Given the description of an element on the screen output the (x, y) to click on. 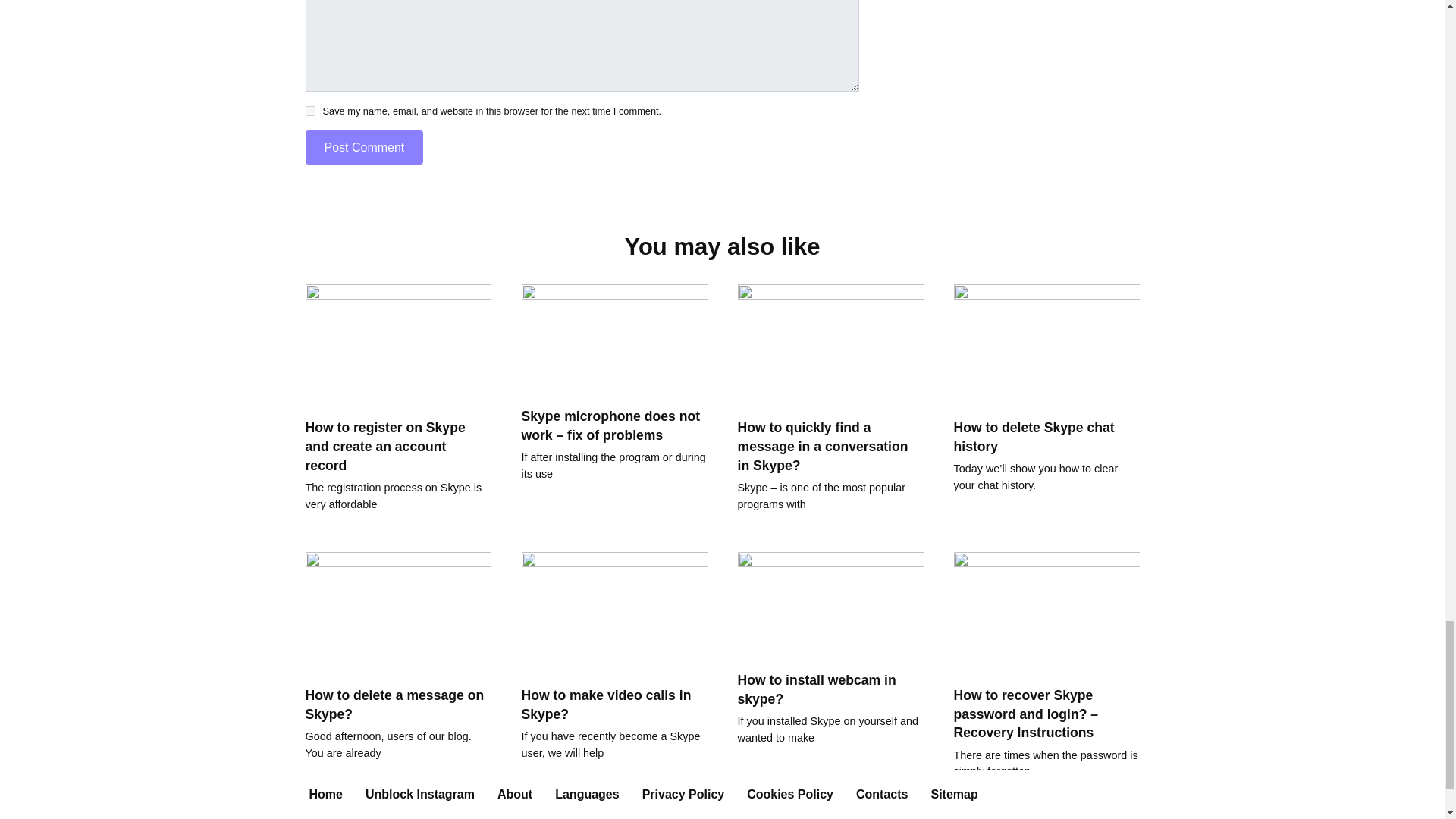
Post Comment (363, 147)
How to quickly find a message in a conversation in Skype? (821, 446)
How to register on Skype and create an account record (384, 446)
Post Comment (363, 147)
yes (309, 111)
